Given the description of an element on the screen output the (x, y) to click on. 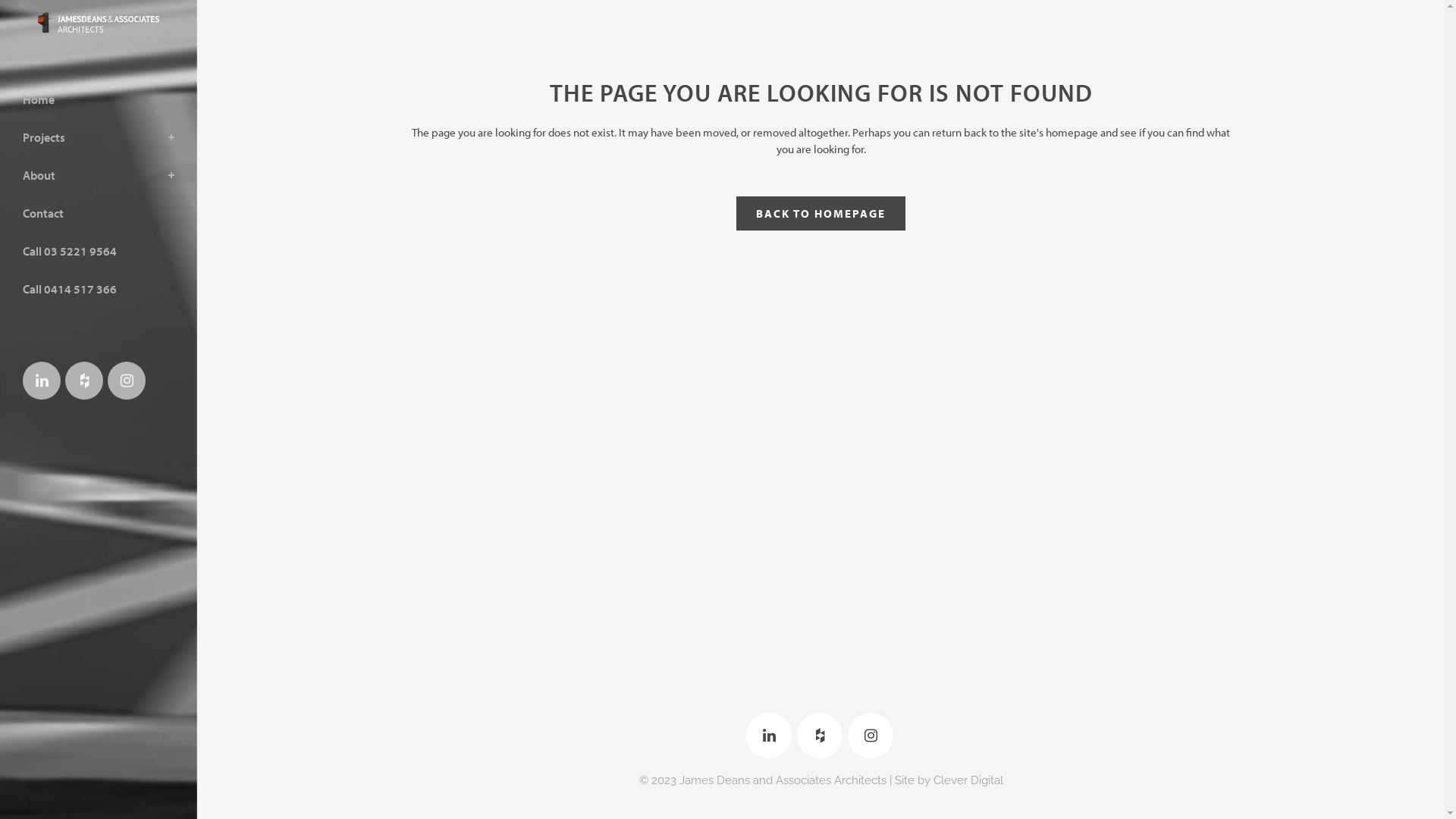
Home Element type: text (98, 99)
BACK TO HOMEPAGE Element type: text (820, 213)
Clever Digital Element type: text (967, 780)
Call 0414 517 366 Element type: text (98, 288)
Contact Element type: text (98, 213)
About Element type: text (98, 175)
Projects Element type: text (98, 137)
Call 03 5221 9564 Element type: text (98, 250)
